Given the description of an element on the screen output the (x, y) to click on. 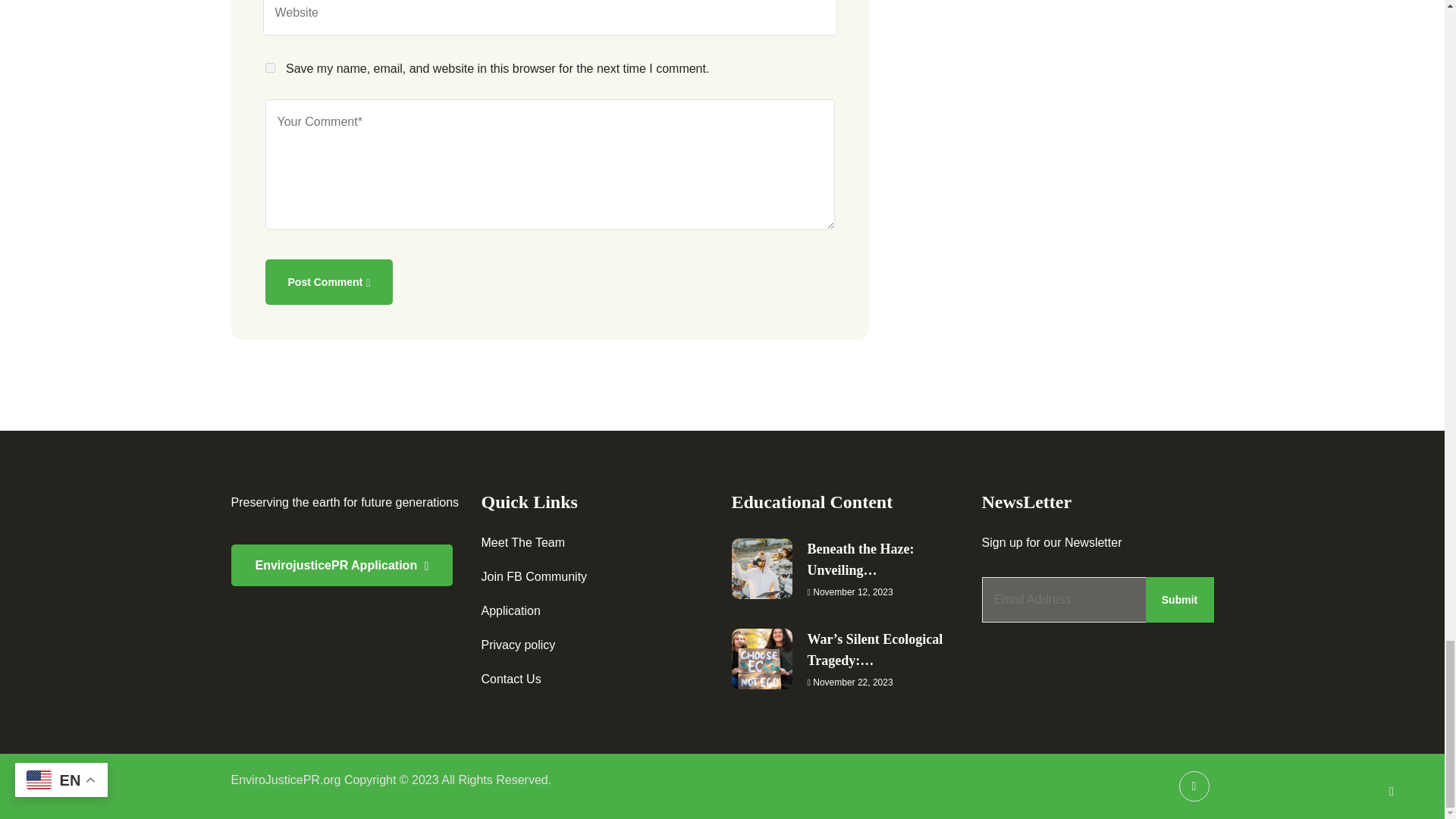
yes (269, 67)
Post Comment (328, 281)
Submit (1178, 599)
